Given the description of an element on the screen output the (x, y) to click on. 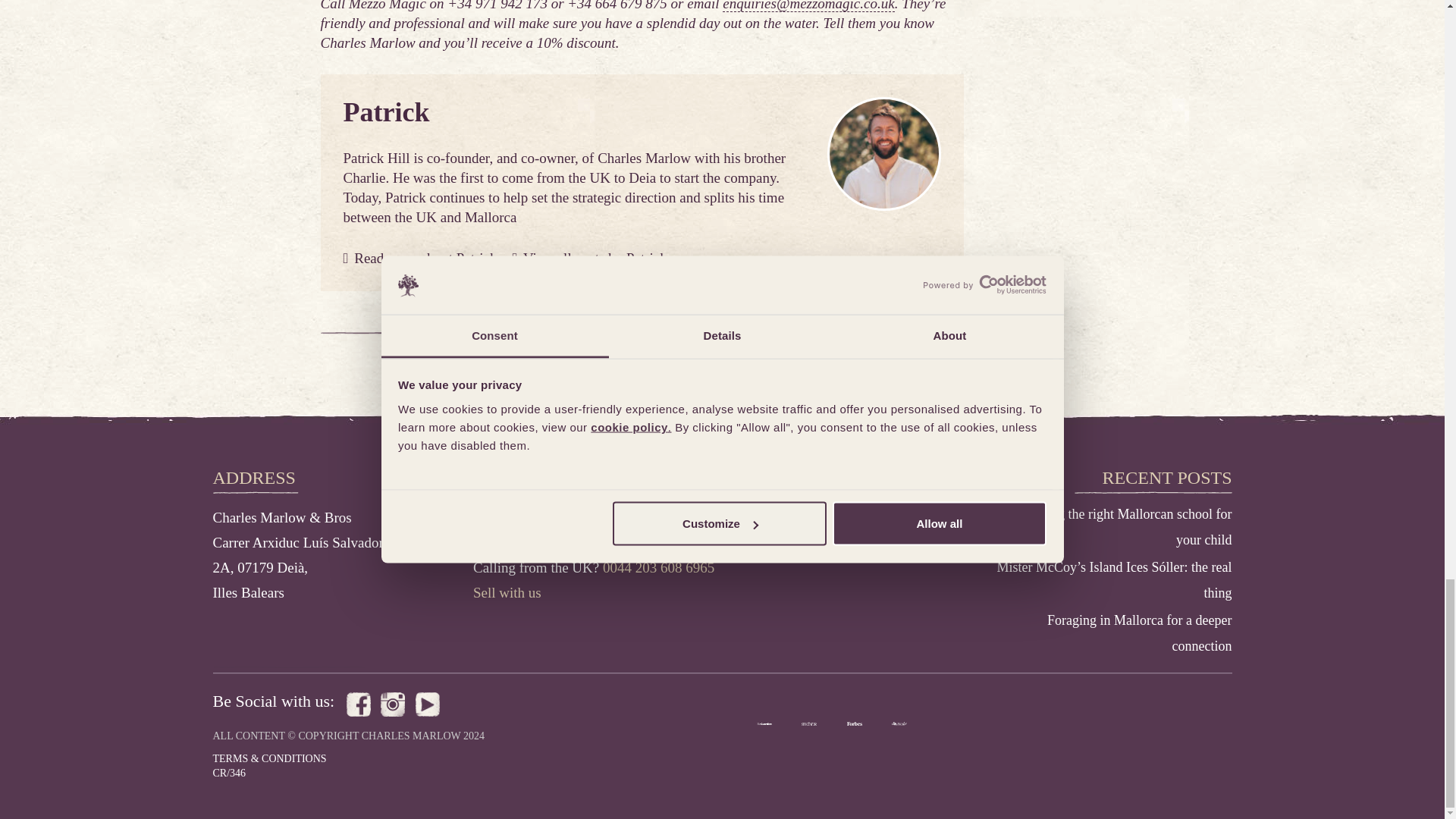
Finding the right Mallorcan school for your child (1126, 526)
